Given the description of an element on the screen output the (x, y) to click on. 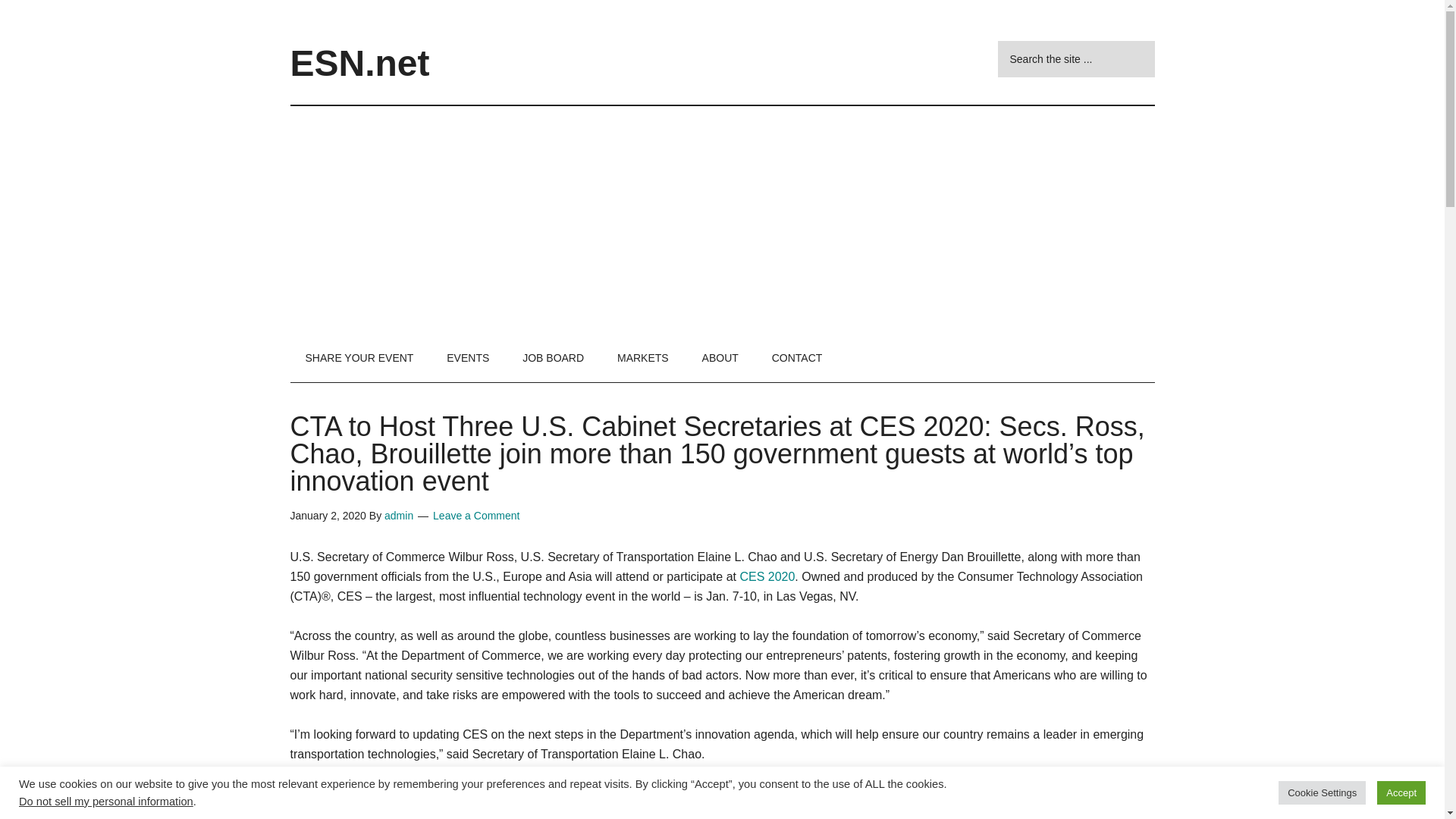
ABOUT (720, 357)
JOB BOARD (552, 357)
CES 2020 (766, 576)
EVENTS (466, 357)
ESN.net (359, 63)
CONTACT (797, 357)
SHARE YOUR EVENT (358, 357)
admin (398, 515)
MARKETS (643, 357)
Leave a Comment (475, 515)
